Given the description of an element on the screen output the (x, y) to click on. 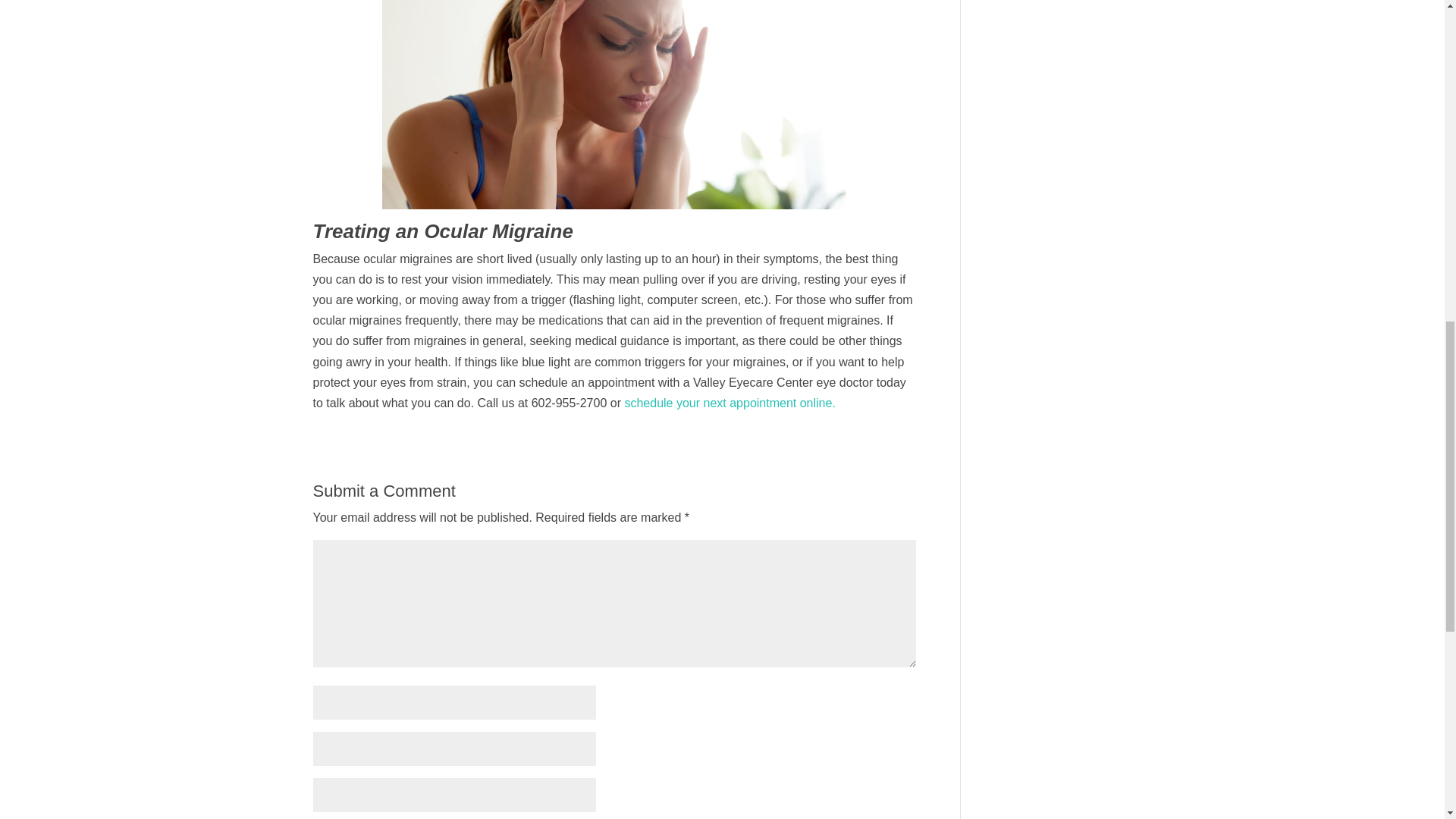
schedule your next appointment online. (729, 402)
